Given the description of an element on the screen output the (x, y) to click on. 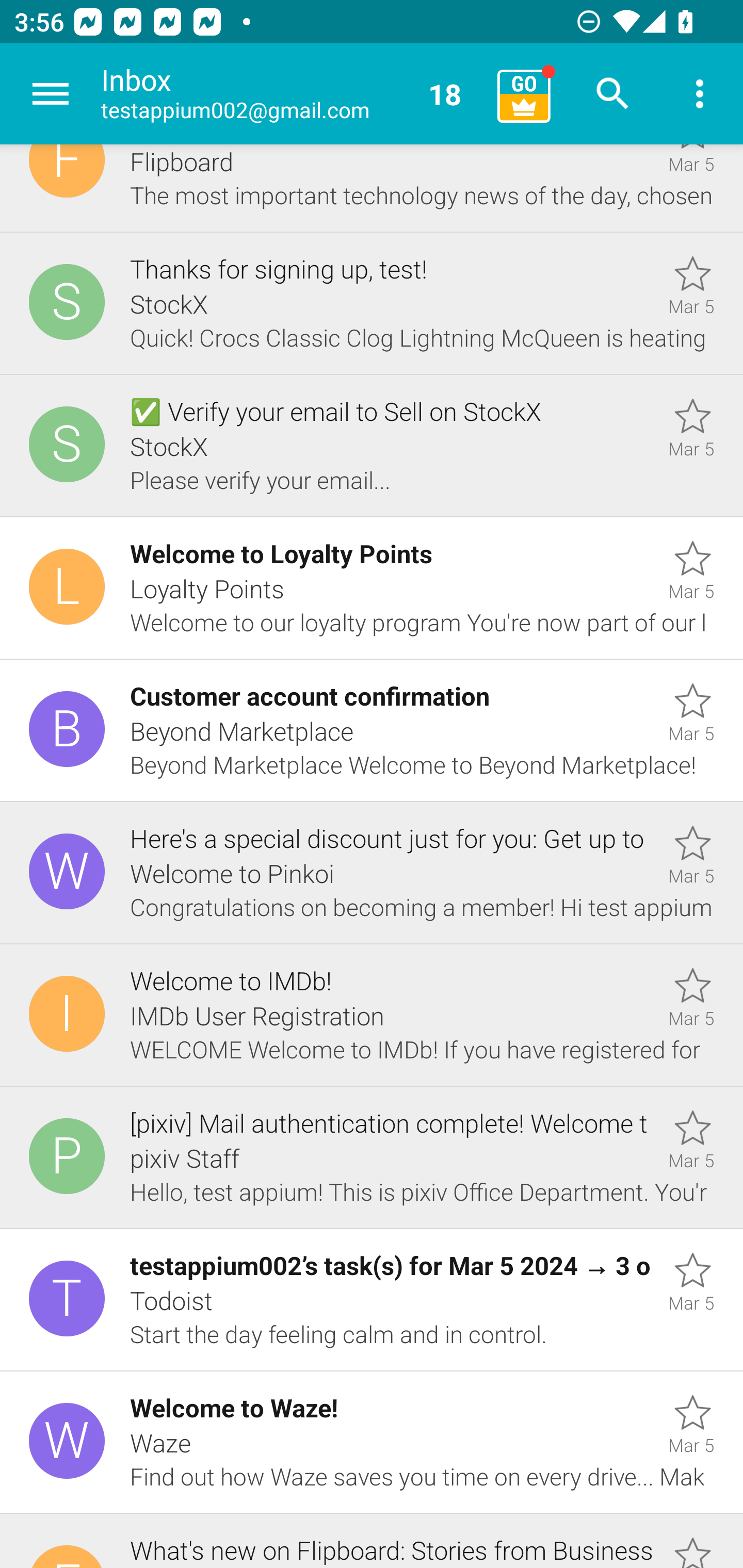
Navigate up (50, 93)
Inbox testappium002@gmail.com 18 (291, 93)
Search (612, 93)
More options (699, 93)
